Given the description of an element on the screen output the (x, y) to click on. 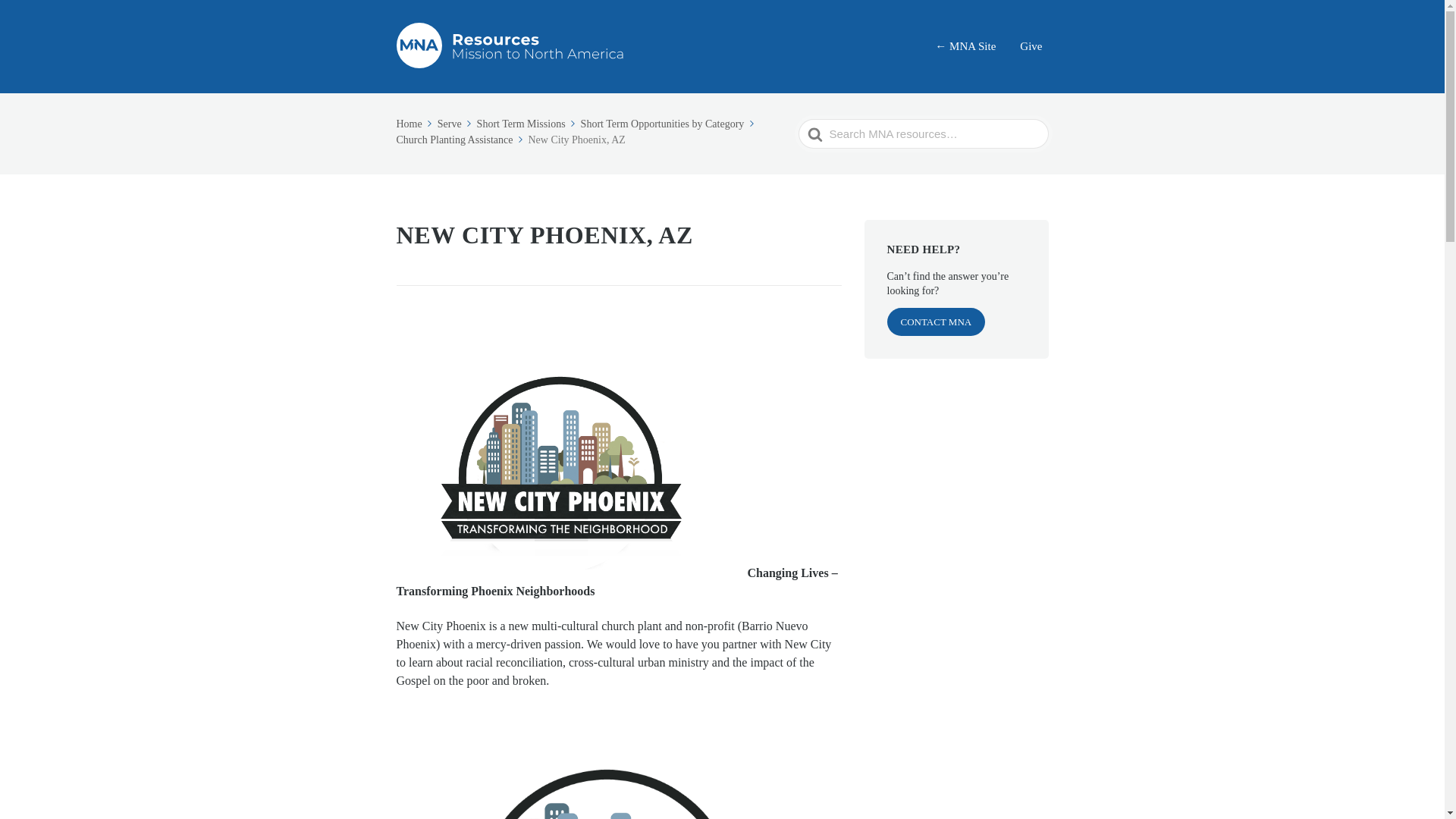
Serve (456, 123)
Short Term Missions (527, 123)
Home (414, 123)
Church Planting Assistance (460, 139)
Give (1030, 46)
CONTACT MNA (935, 321)
Short Term Opportunities by Category (668, 123)
